Given the description of an element on the screen output the (x, y) to click on. 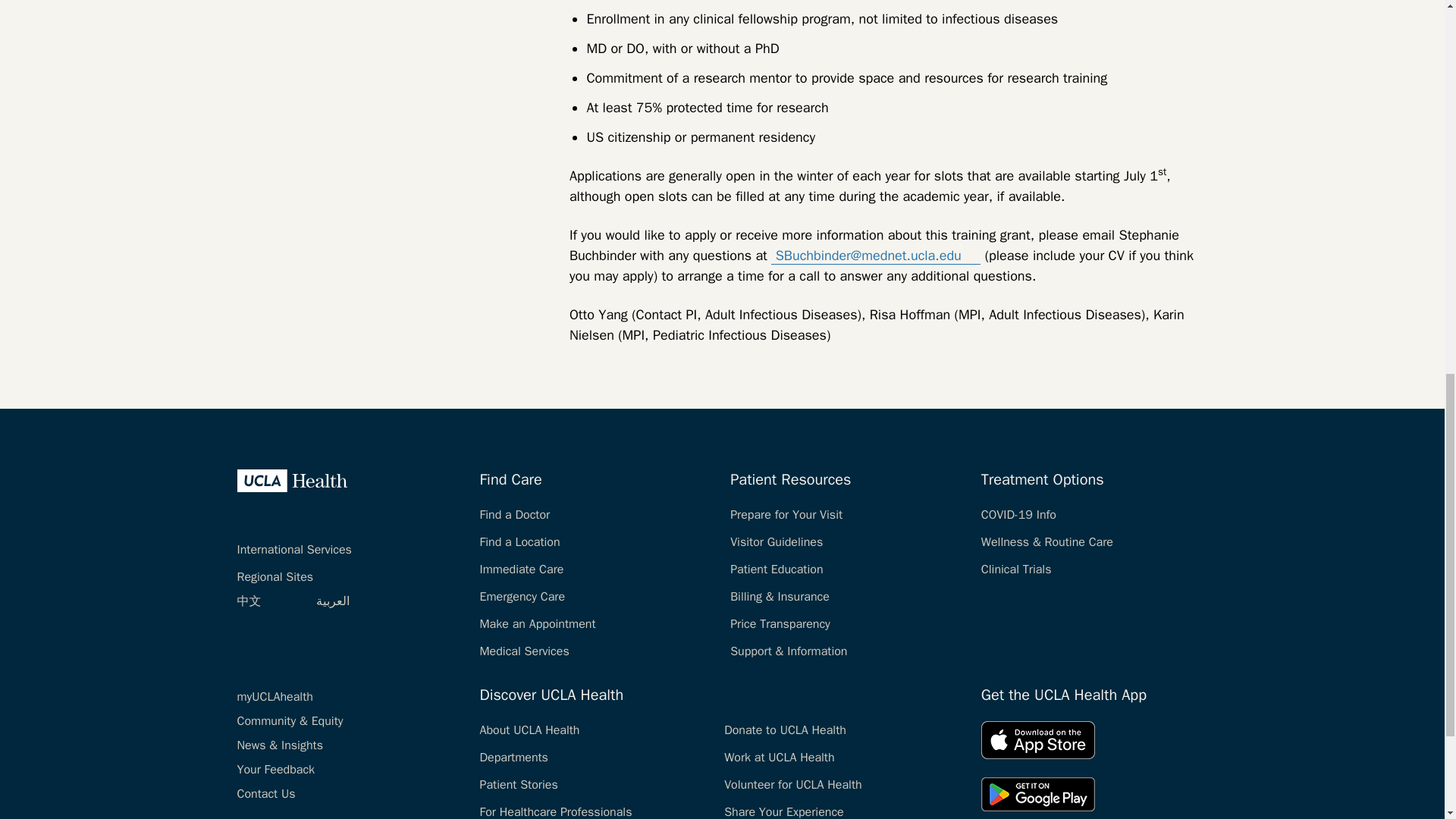
myUCLAhealth Login. (274, 696)
Link sends email (969, 253)
